Given the description of an element on the screen output the (x, y) to click on. 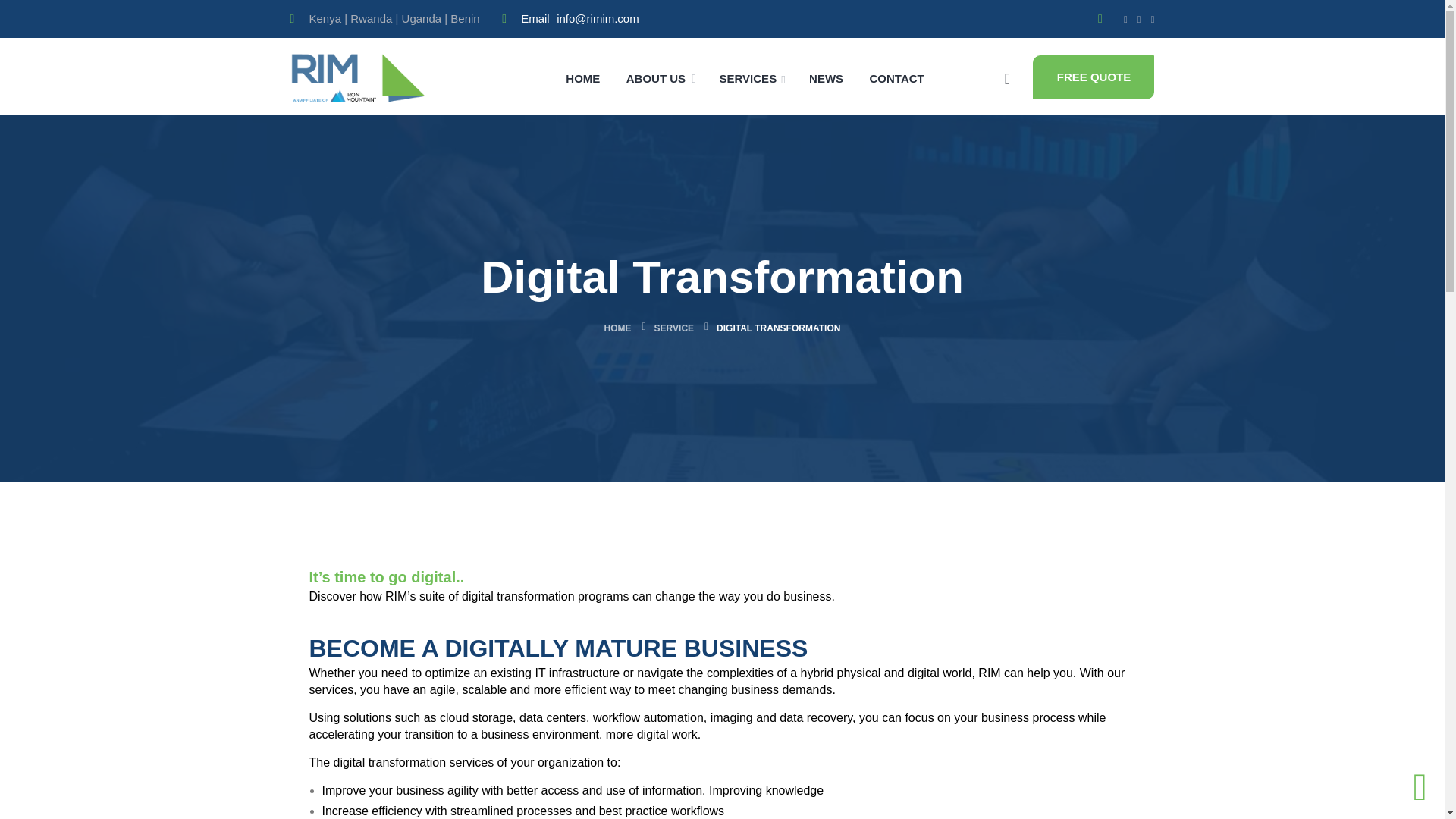
Rwanda (370, 18)
NEWS (826, 77)
CONTACT (896, 77)
Benin (464, 18)
FREE QUOTE (1093, 76)
HOME (582, 77)
Kenya (325, 18)
Uganda (421, 18)
SERVICES (752, 77)
ABOUT US (655, 77)
